Given the description of an element on the screen output the (x, y) to click on. 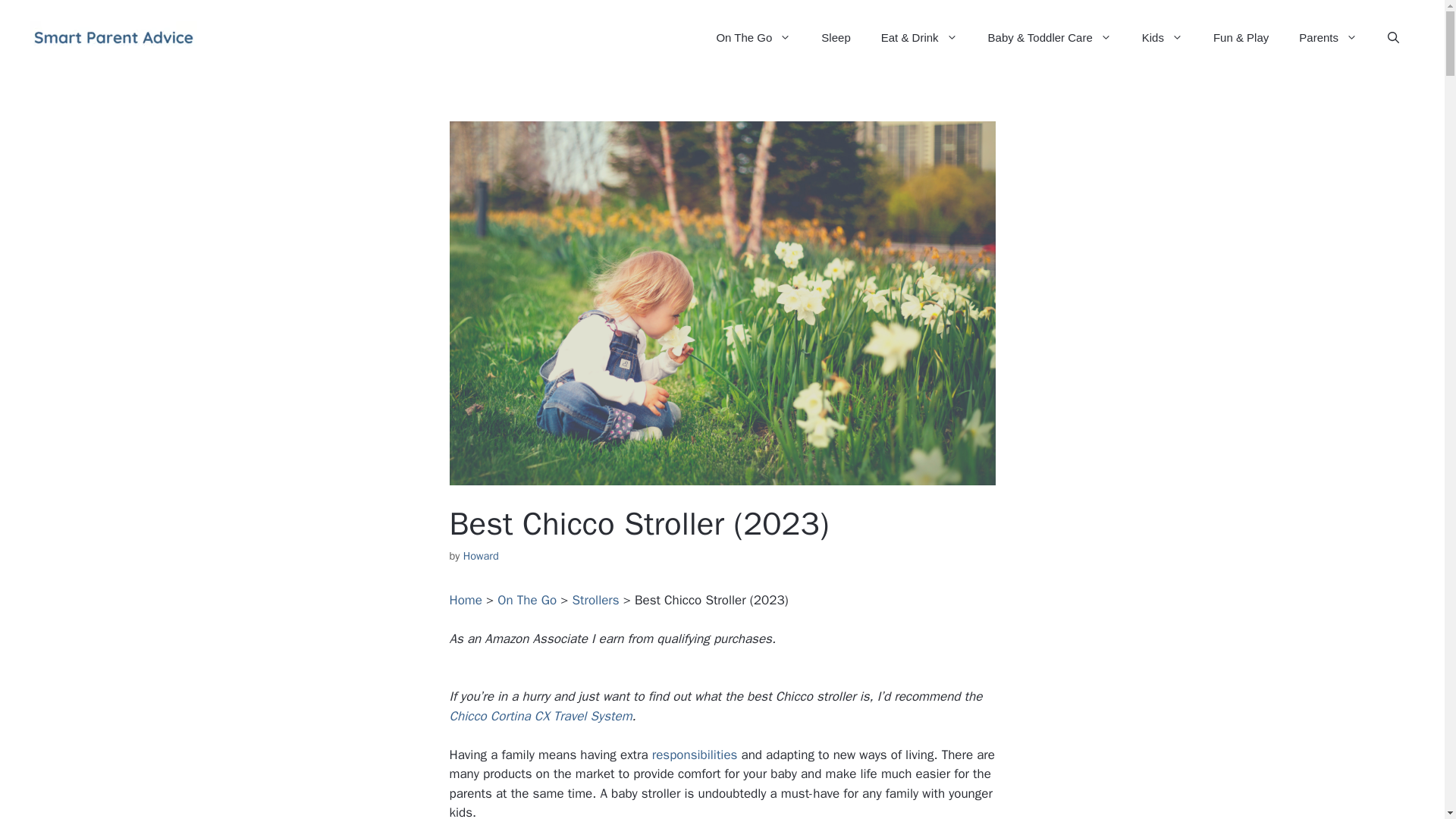
Howard (481, 555)
View all posts by Howard (481, 555)
responsibilities (695, 754)
Parents (1328, 37)
Kids (1162, 37)
On The Go (526, 600)
On The Go (753, 37)
Chicco Cortina CX Travel System (539, 715)
Home (464, 600)
Sleep (835, 37)
Strollers (596, 600)
